Given the description of an element on the screen output the (x, y) to click on. 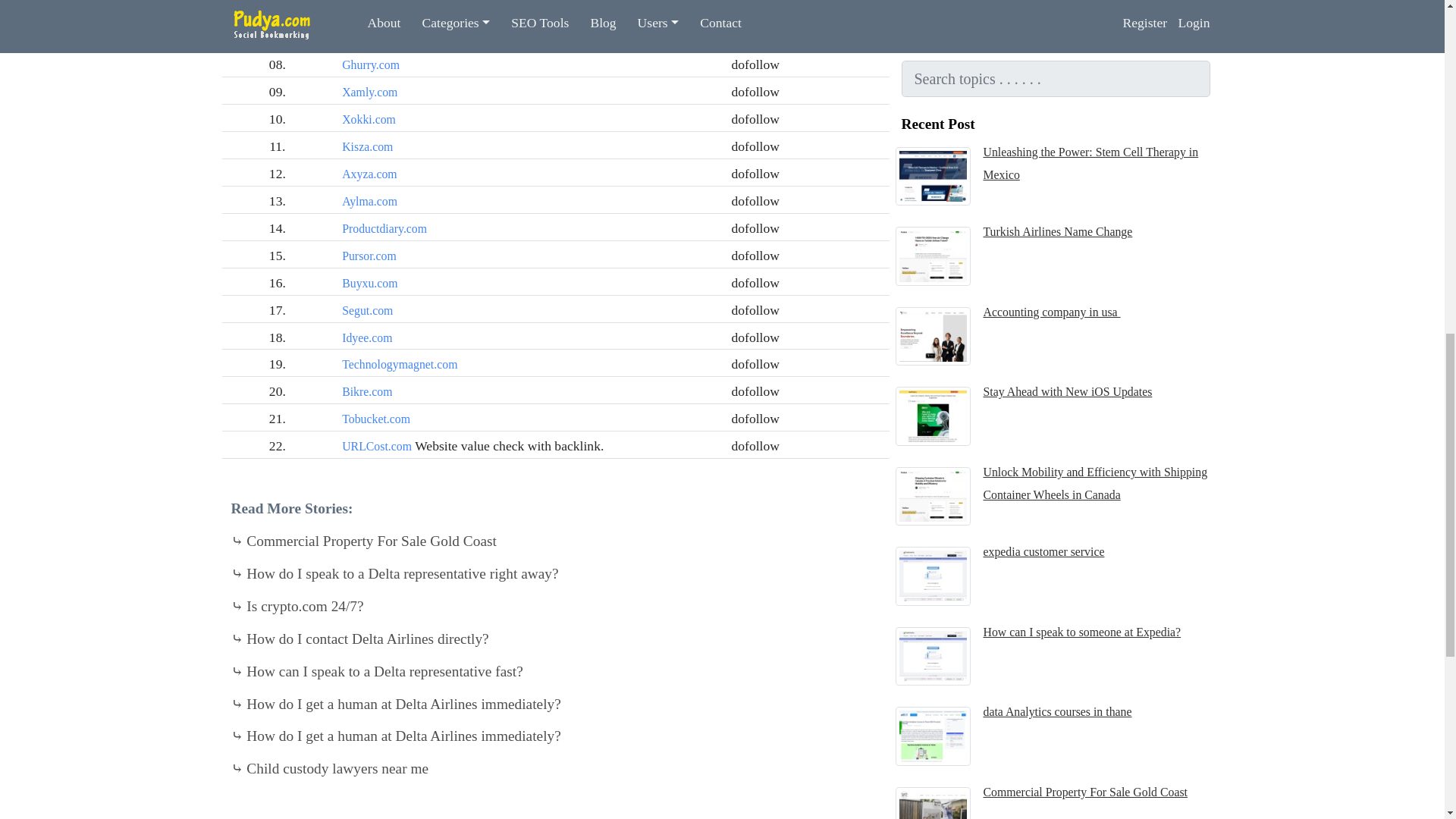
Axyza.com (369, 173)
Genuinepath.com (384, 38)
Productdiary.com (384, 228)
Xokki.com (369, 119)
Aylma.com (369, 201)
Xamly.com (369, 91)
Commercial Property For Sale Gold Coast (363, 540)
Ghurry.com (370, 64)
How do I speak to a Delta representative right away? (393, 573)
Singlepanda.com (383, 10)
Kisza.com (367, 146)
